Given the description of an element on the screen output the (x, y) to click on. 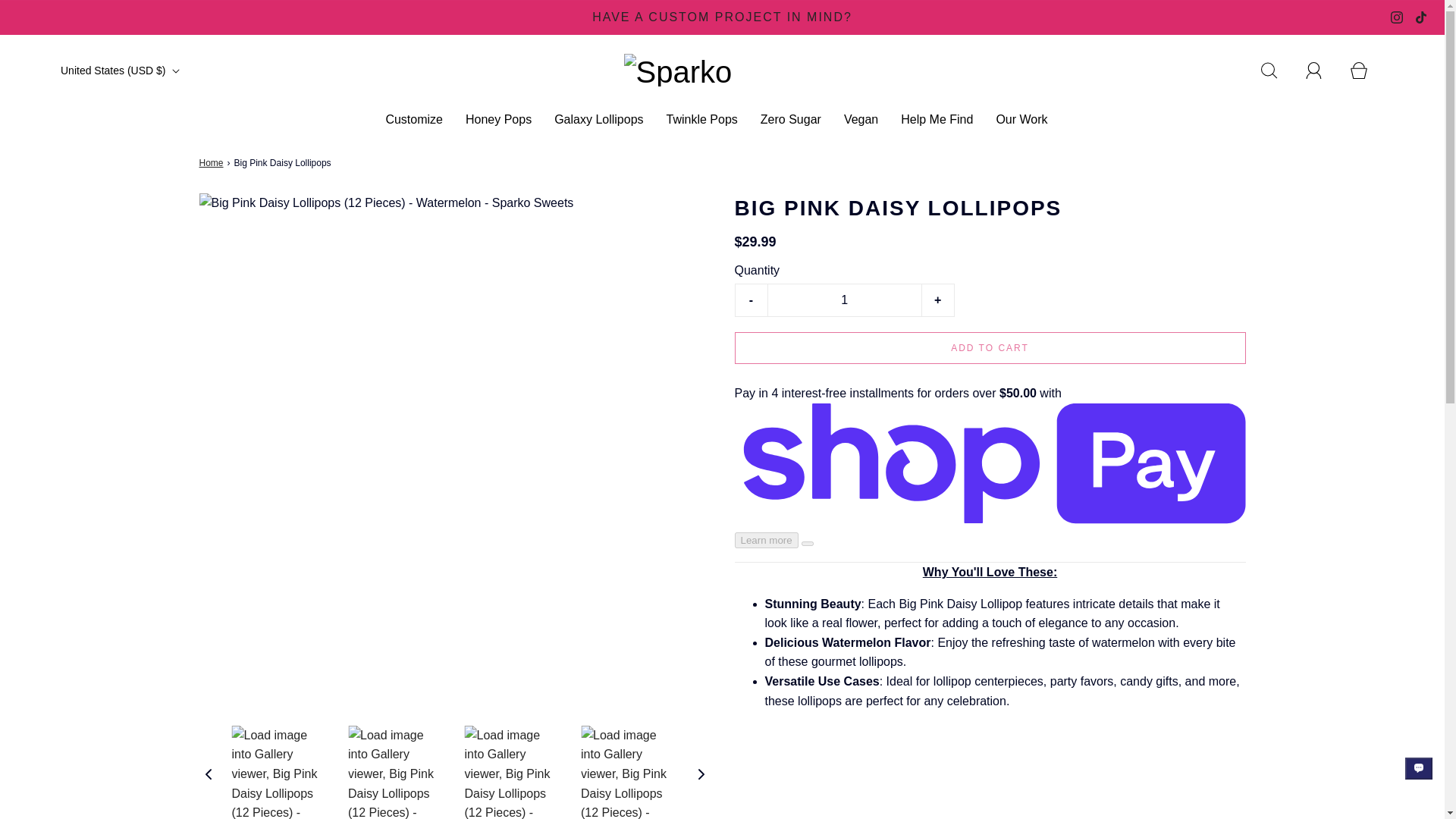
INSTAGRAM ICON (1396, 17)
INSTAGRAM ICON (1396, 17)
TIKTOK ICON (1420, 17)
Search (1277, 70)
Honey Pops (498, 119)
Customize (413, 119)
Twinkle Pops (702, 119)
Galaxy Lollipops (598, 119)
Cart (1367, 70)
TIKTOK ICON (1420, 17)
1 (843, 299)
Log in (1322, 70)
Back to the frontpage (212, 163)
HAVE A CUSTOM PROJECT IN MIND? (722, 16)
